Given the description of an element on the screen output the (x, y) to click on. 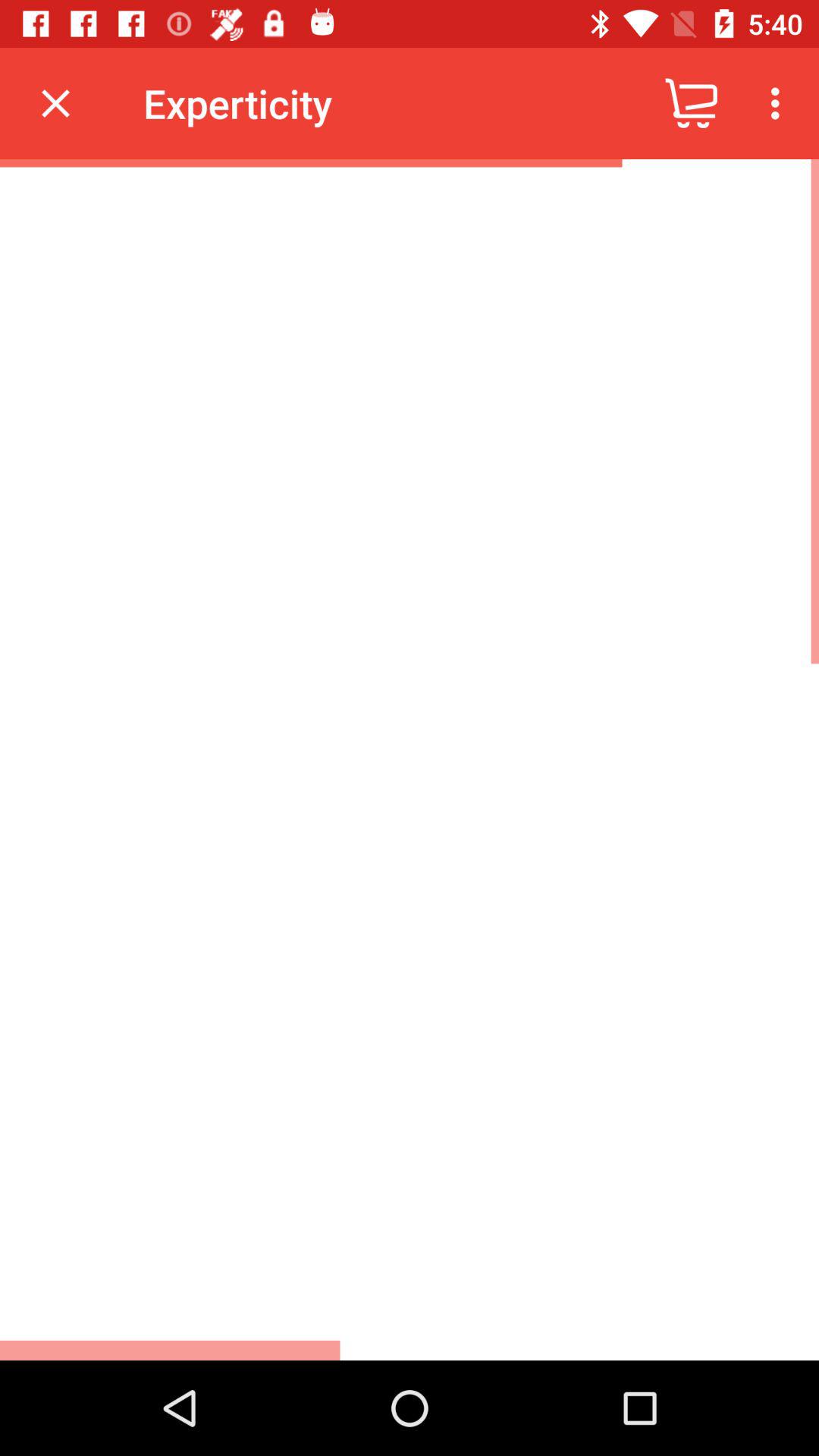
open the icon next to experticity (691, 103)
